Given the description of an element on the screen output the (x, y) to click on. 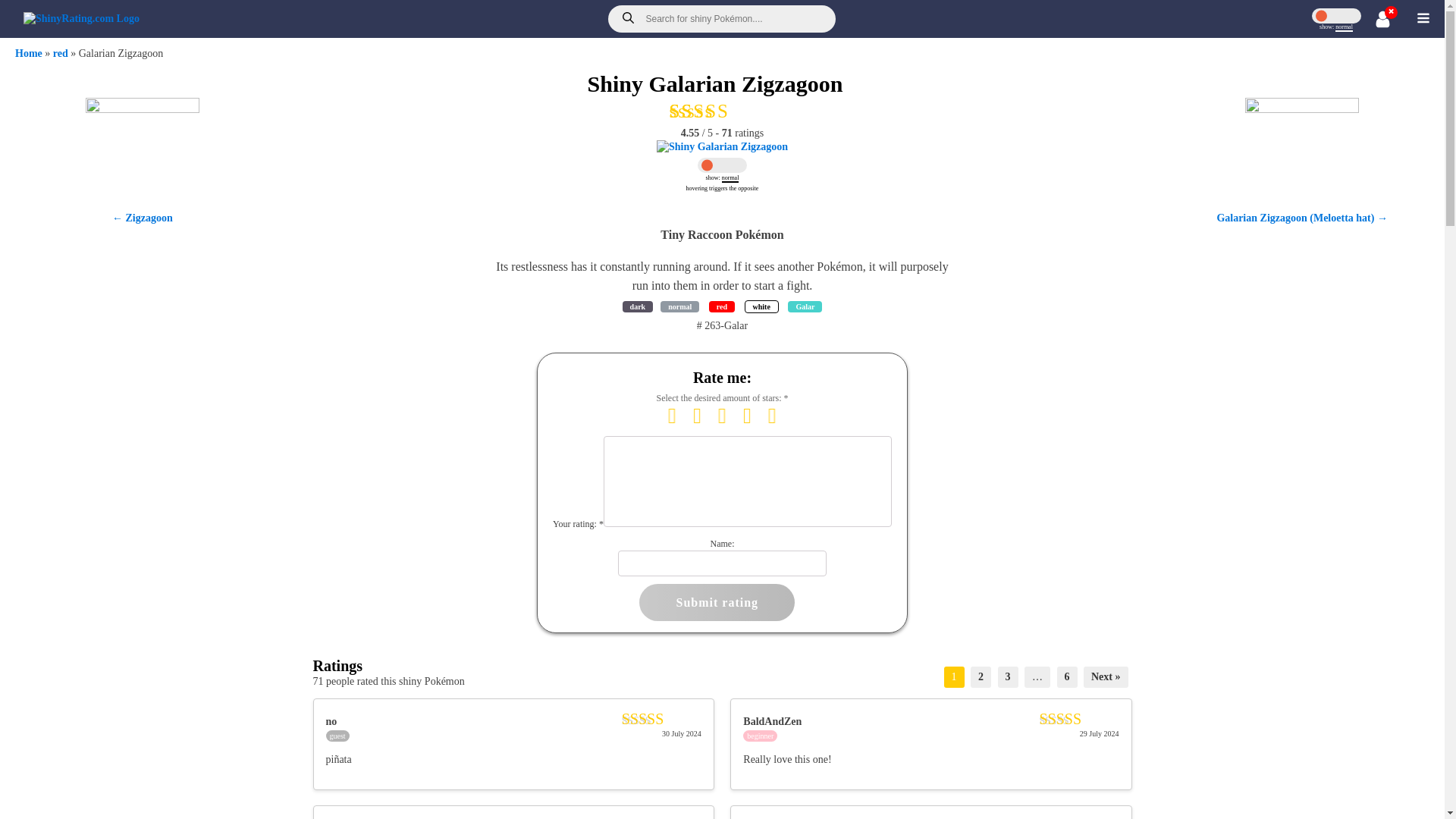
Home (28, 52)
4 ratings (759, 736)
Rate me! (721, 110)
3 (721, 110)
2 (720, 413)
red (981, 676)
Galar (60, 52)
1 (804, 306)
red (670, 413)
Submit rating (722, 306)
dark (716, 602)
normal (638, 306)
Submit rating (679, 306)
6 (716, 602)
